Given the description of an element on the screen output the (x, y) to click on. 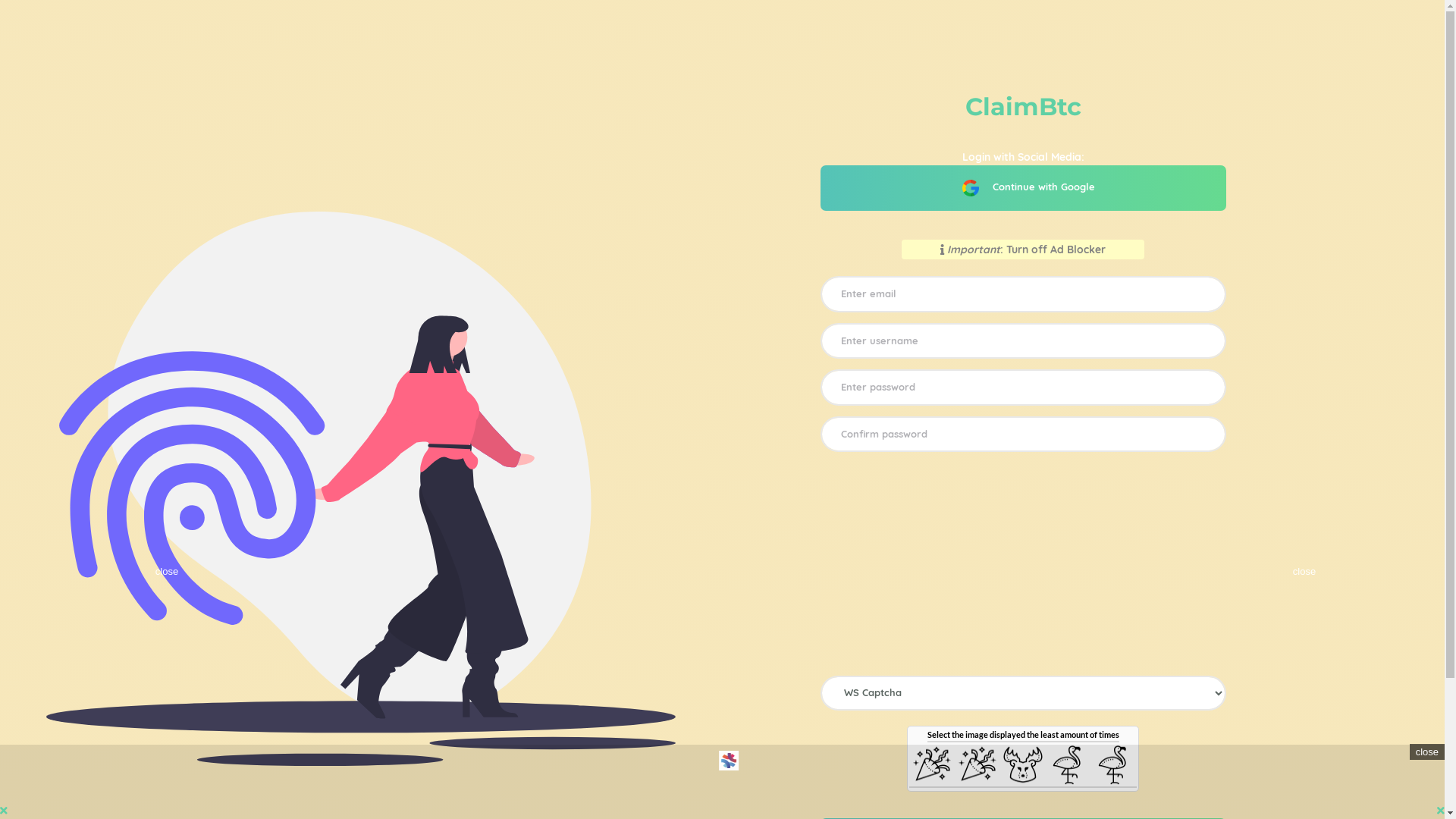
close Element type: text (1304, 571)
close Element type: text (166, 571)
Continue with Google Element type: text (1023, 187)
close Element type: text (1426, 751)
ClaimBtc Element type: text (1023, 106)
